Given the description of an element on the screen output the (x, y) to click on. 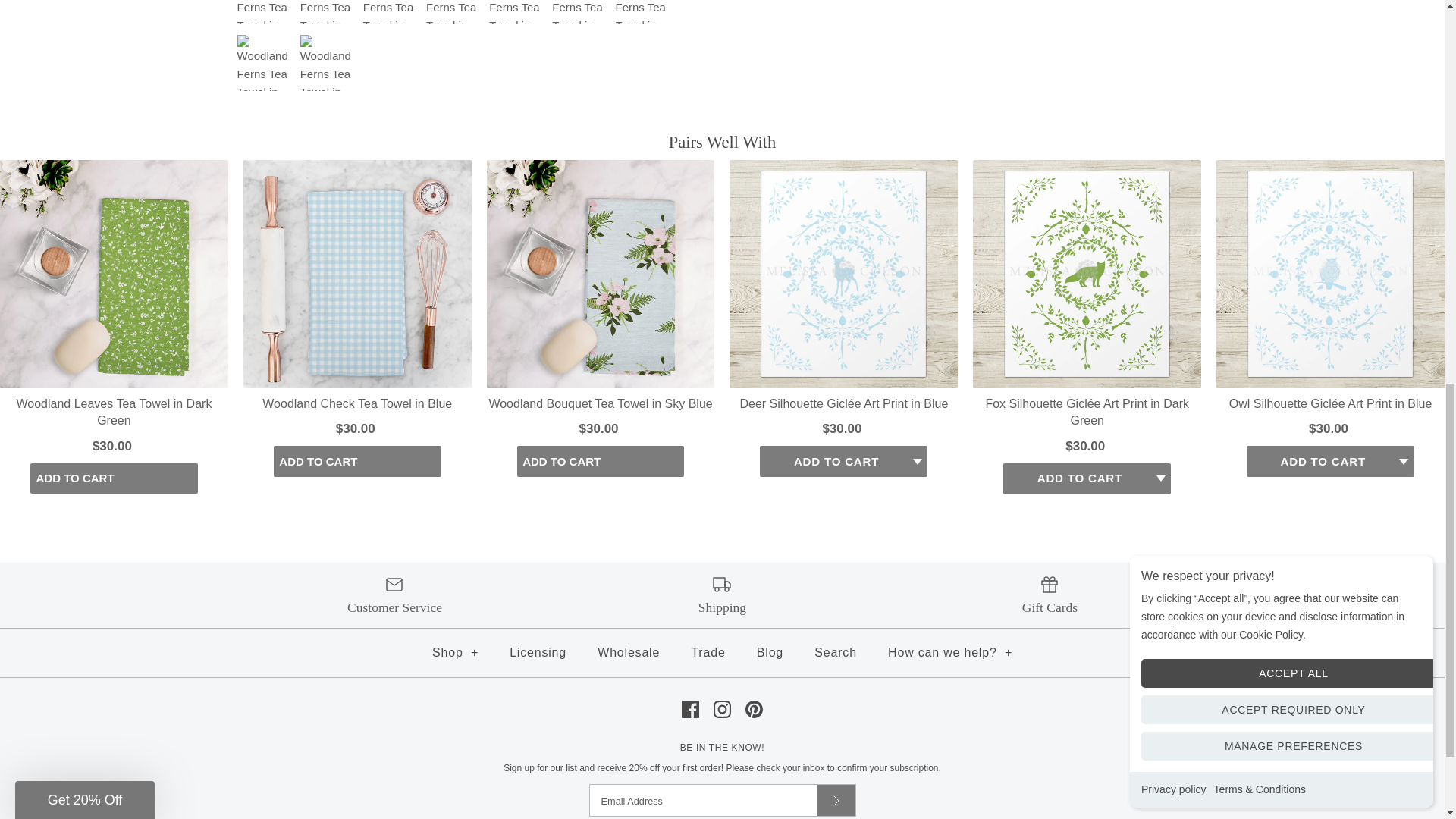
Woodland Ferns Tea Towel in Sky Blue - Melissa Colson (327, 12)
Pinterest (753, 709)
Woodland Ferns Tea Towel in Sky Blue - Melissa Colson (643, 12)
Woodland Ferns Tea Towel in Sky Blue - Melissa Colson (390, 12)
Woodland Ferns Tea Towel in Sky Blue - Melissa Colson (263, 62)
Woodland Ferns Tea Towel in Sky Blue - Melissa Colson (579, 12)
Woodland Ferns Tea Towel in Sky Blue - Melissa Colson (263, 12)
Woodland Ferns Tea Towel in Sky Blue - Melissa Colson (453, 12)
Woodland Ferns Tea Towel in Sky Blue - Melissa Colson (516, 12)
Woodland Ferns Tea Towel in Sky Blue - Melissa Colson (327, 62)
Instagram (721, 709)
Facebook (689, 709)
